Given the description of an element on the screen output the (x, y) to click on. 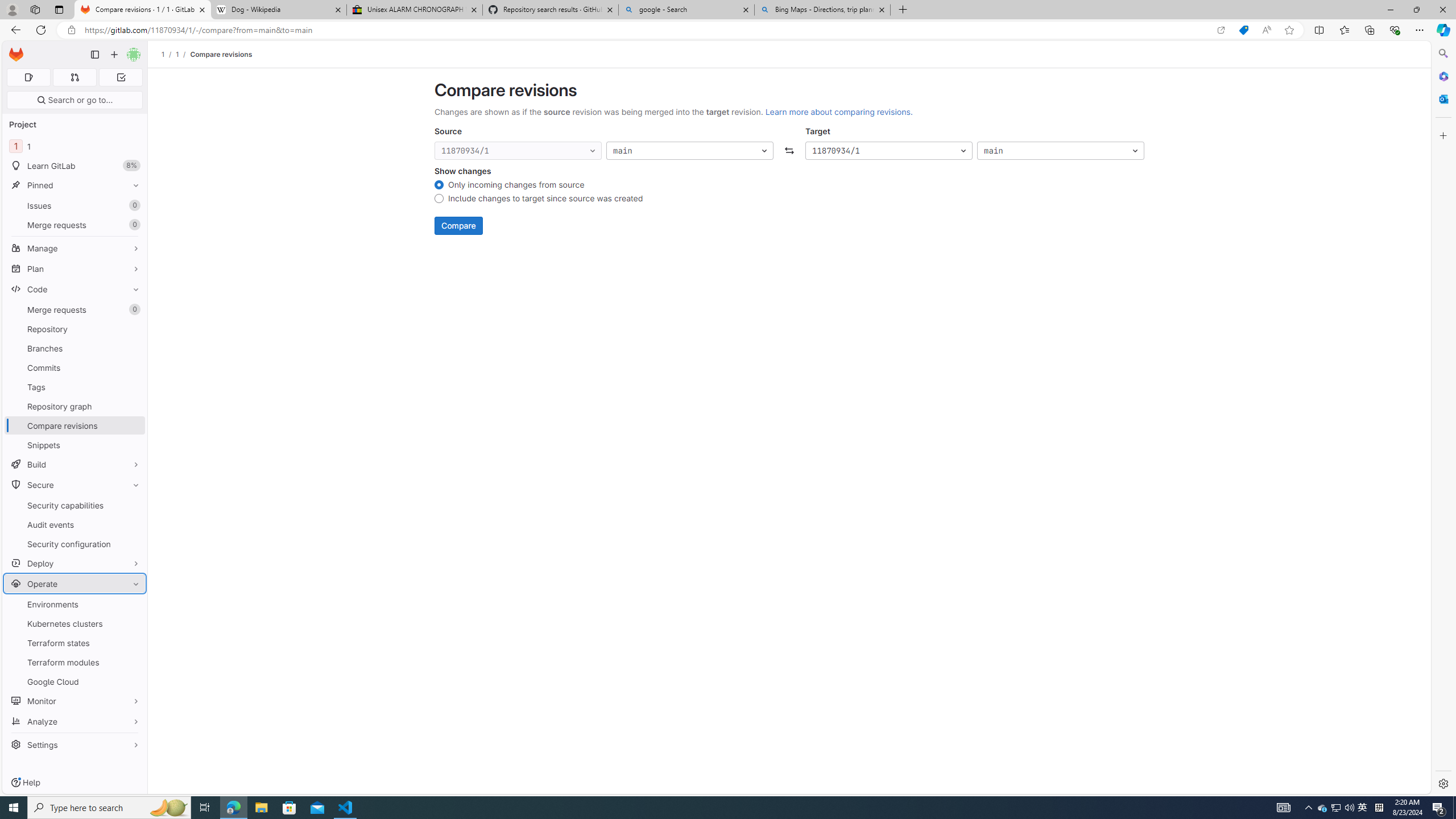
Security capabilities (74, 505)
Unpin Issues (132, 205)
Snippets (74, 444)
Branches (74, 348)
Learn more about comparing revisions. (838, 111)
Kubernetes clusters (74, 623)
Pin Security configuration (132, 544)
